Given the description of an element on the screen output the (x, y) to click on. 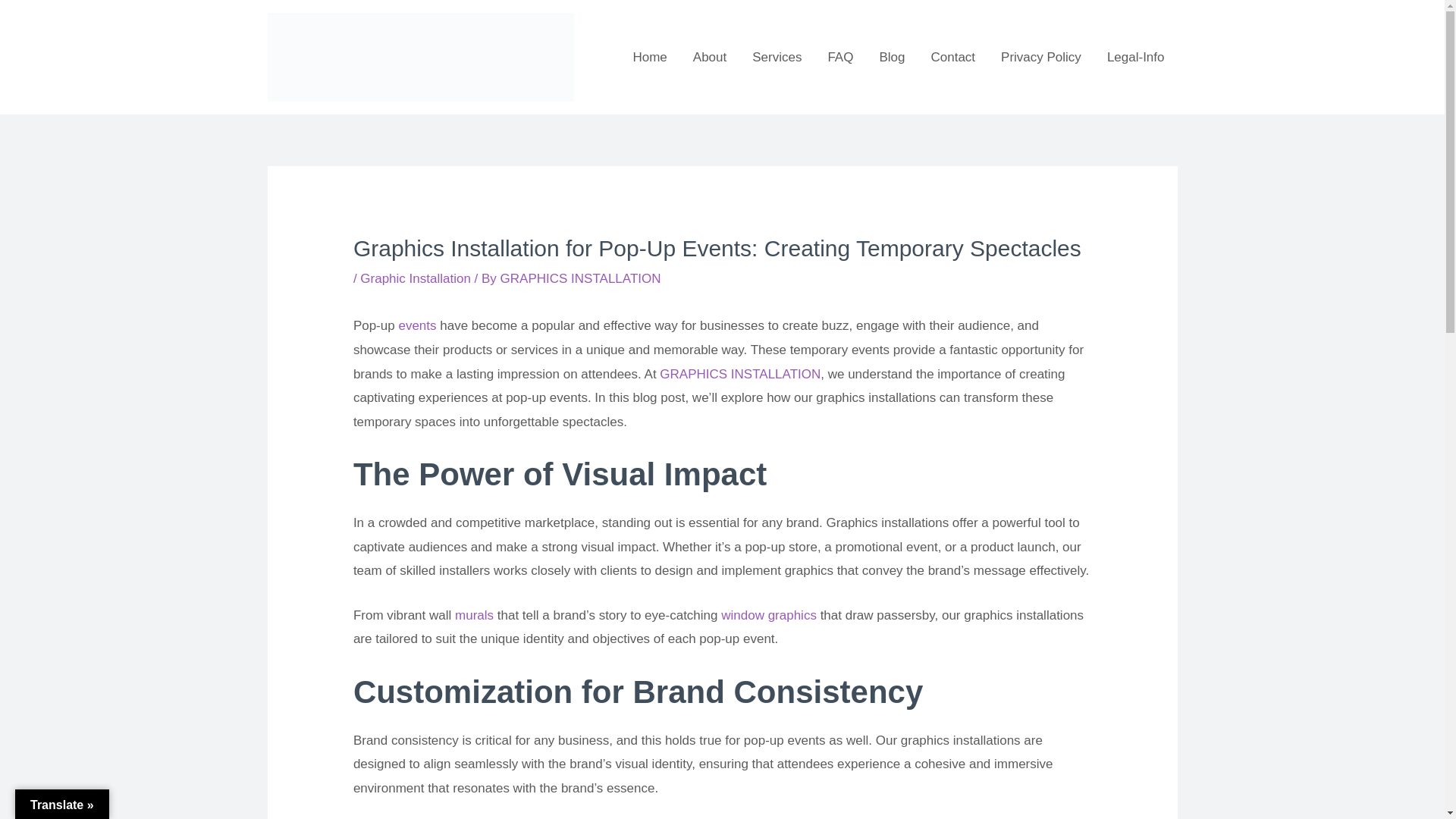
murals (473, 615)
Contact (952, 57)
window graphics (768, 615)
Home (649, 57)
events (416, 325)
About (709, 57)
FAQ (839, 57)
GRAPHICS INSTALLATION (580, 278)
Legal-Info (1135, 57)
Graphic Installation (414, 278)
